Given the description of an element on the screen output the (x, y) to click on. 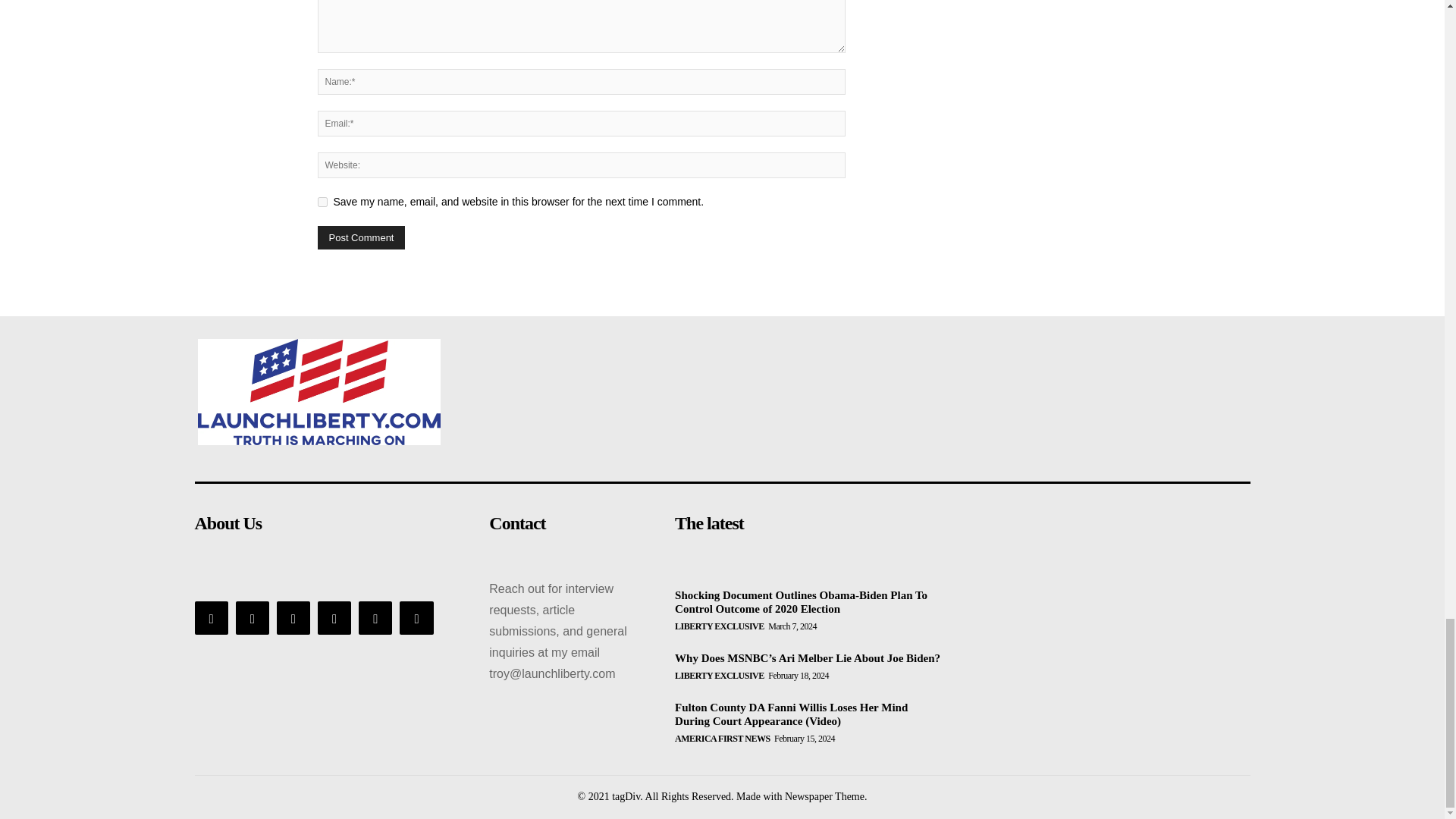
Post Comment (360, 237)
yes (321, 202)
